Given the description of an element on the screen output the (x, y) to click on. 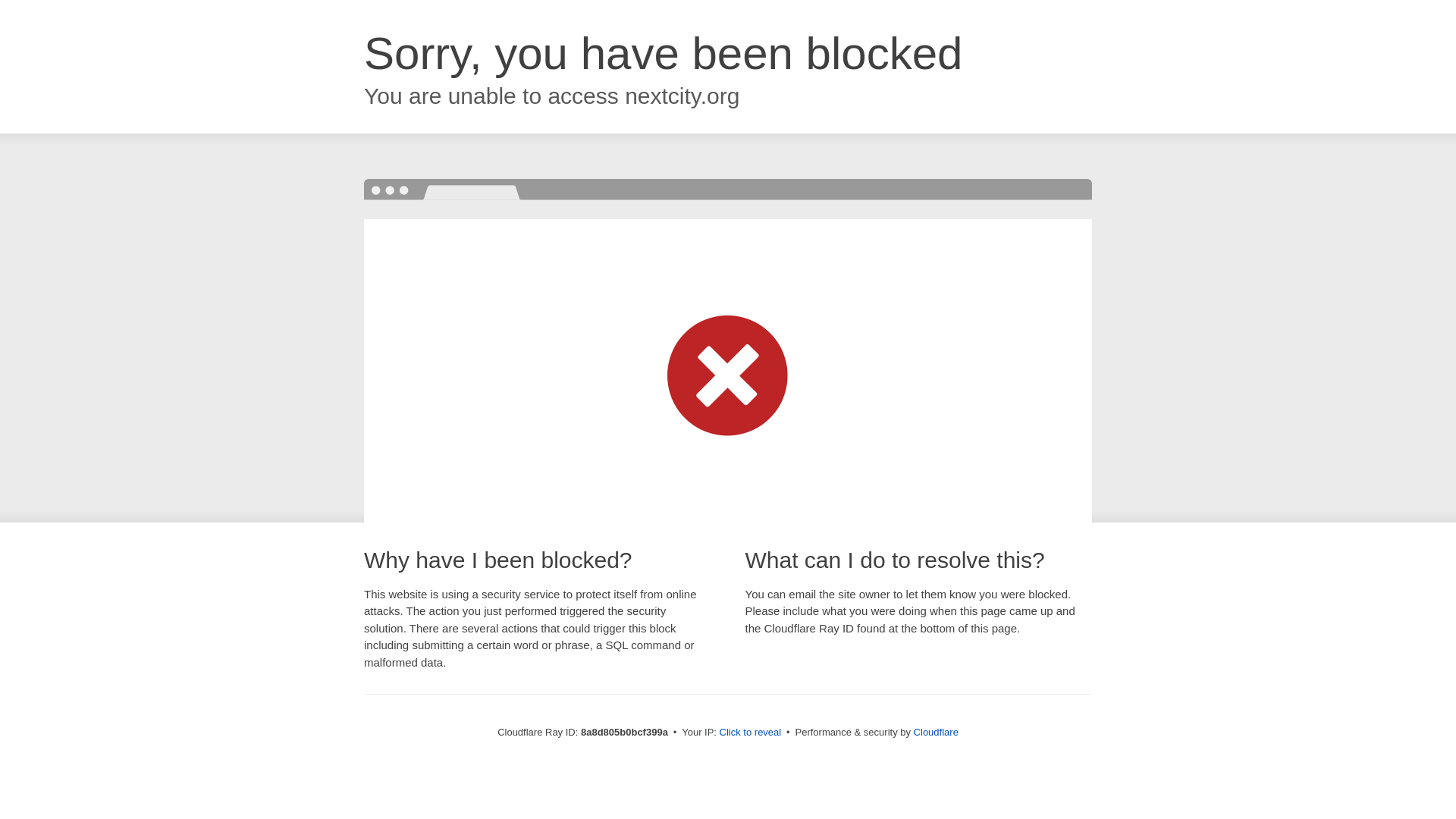
Click to reveal (750, 732)
Cloudflare (936, 731)
